Given the description of an element on the screen output the (x, y) to click on. 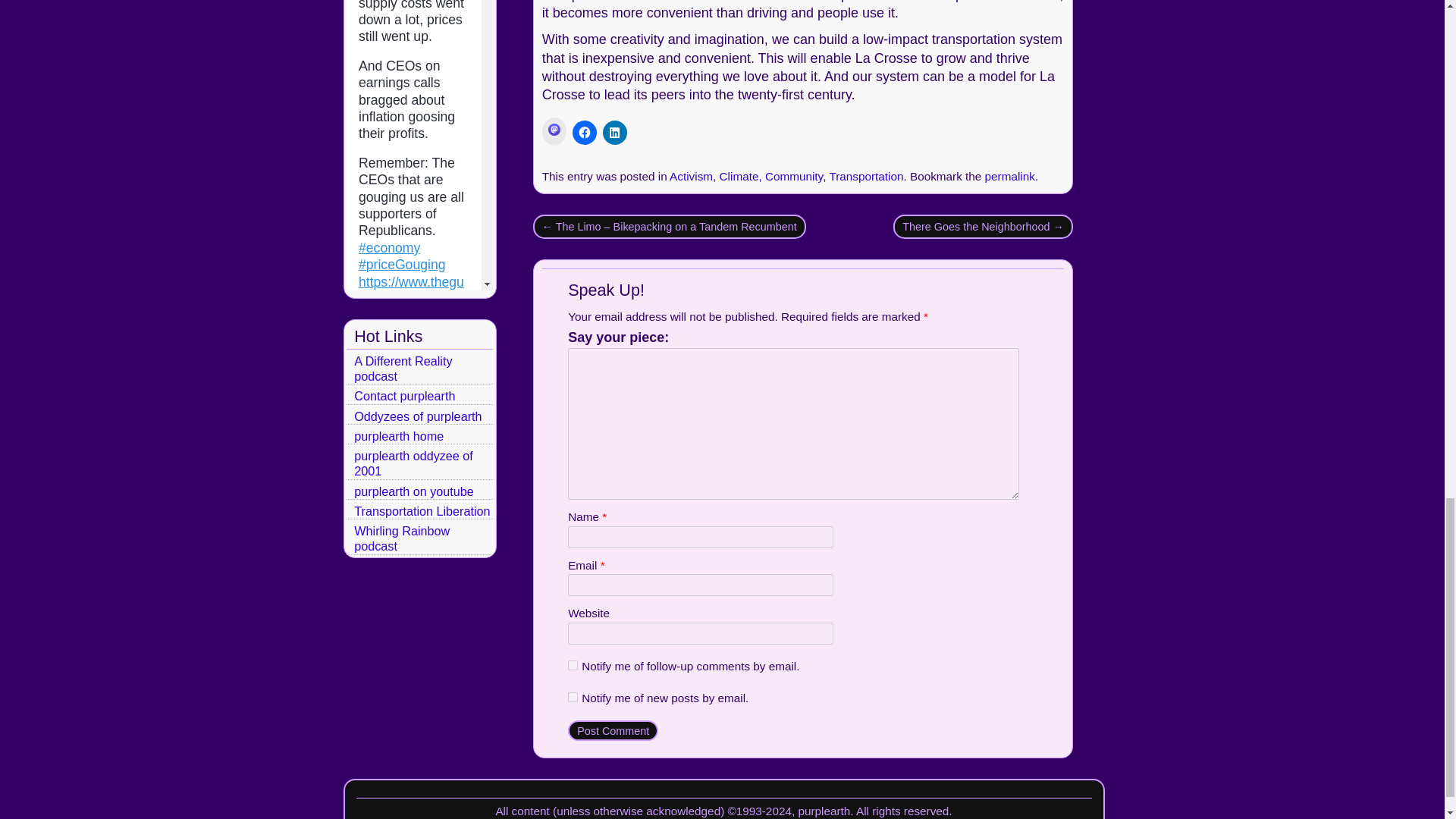
A Different Reality podcast (402, 368)
permalink (1010, 175)
Transportation (865, 175)
purplearth oddyzee of 2001 (413, 462)
Click to share on Facebook (584, 132)
purplearth home (398, 436)
Climate (738, 175)
subscribe (572, 696)
Send a message to purplearth. (403, 395)
Transportation Liberation (421, 510)
Post Comment (612, 730)
purplearth on youtube (413, 490)
Click to share on LinkedIn (614, 132)
